Given the description of an element on the screen output the (x, y) to click on. 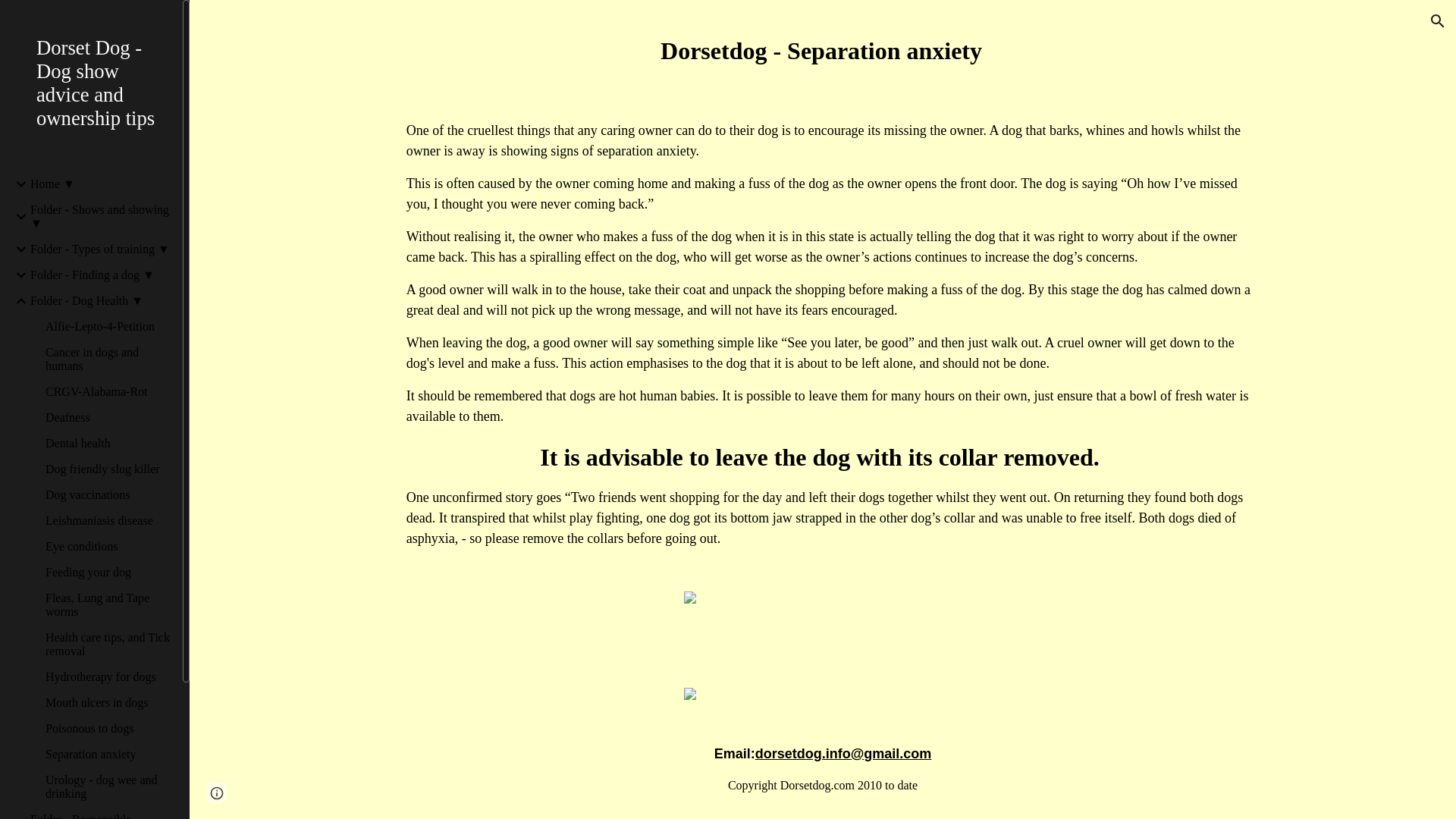
Deafness (107, 418)
Dog vaccinations (107, 495)
Alfie-Lepto-4-Petition (107, 326)
Dog friendly slug killer (107, 468)
Leishmaniasis disease (107, 520)
Dental health (107, 443)
Dorset Dog - Dog show advice and ownership tips (97, 83)
Cancer in dogs and humans (107, 359)
CRGV-Alabama-Rot (107, 391)
